Given the description of an element on the screen output the (x, y) to click on. 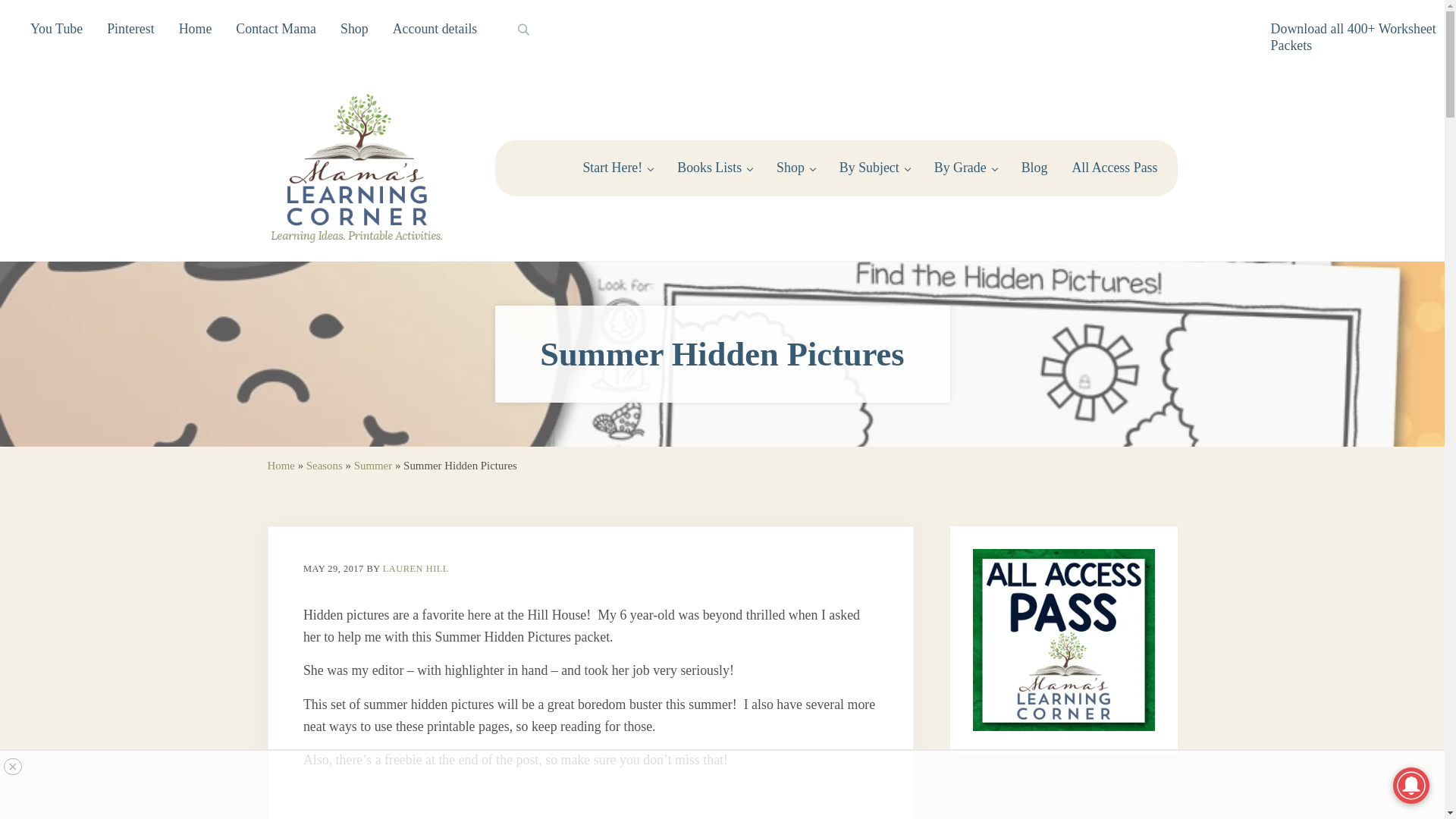
By Subject (874, 168)
Books Lists (714, 168)
Seasons (323, 465)
You Tube (55, 29)
Shop (354, 29)
Home (280, 465)
Contact Mama (276, 29)
Start Here! (617, 168)
Pinterest (130, 29)
Summer (372, 465)
Shop (795, 168)
Account details (434, 29)
Home (195, 29)
By Grade (965, 168)
